Given the description of an element on the screen output the (x, y) to click on. 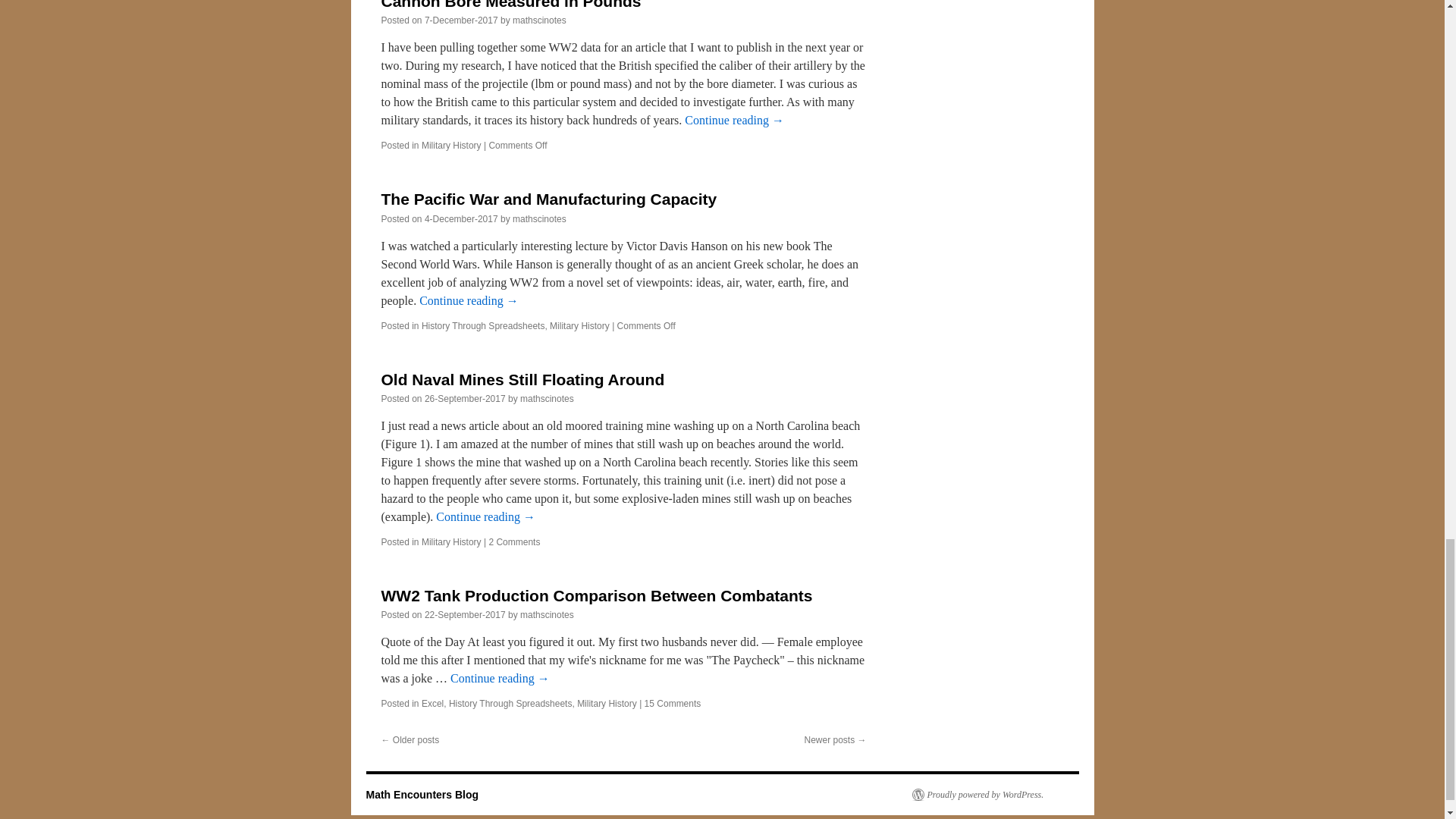
8:55 am (461, 20)
7:29 pm (461, 218)
View all posts by mathscinotes (539, 20)
